Given the description of an element on the screen output the (x, y) to click on. 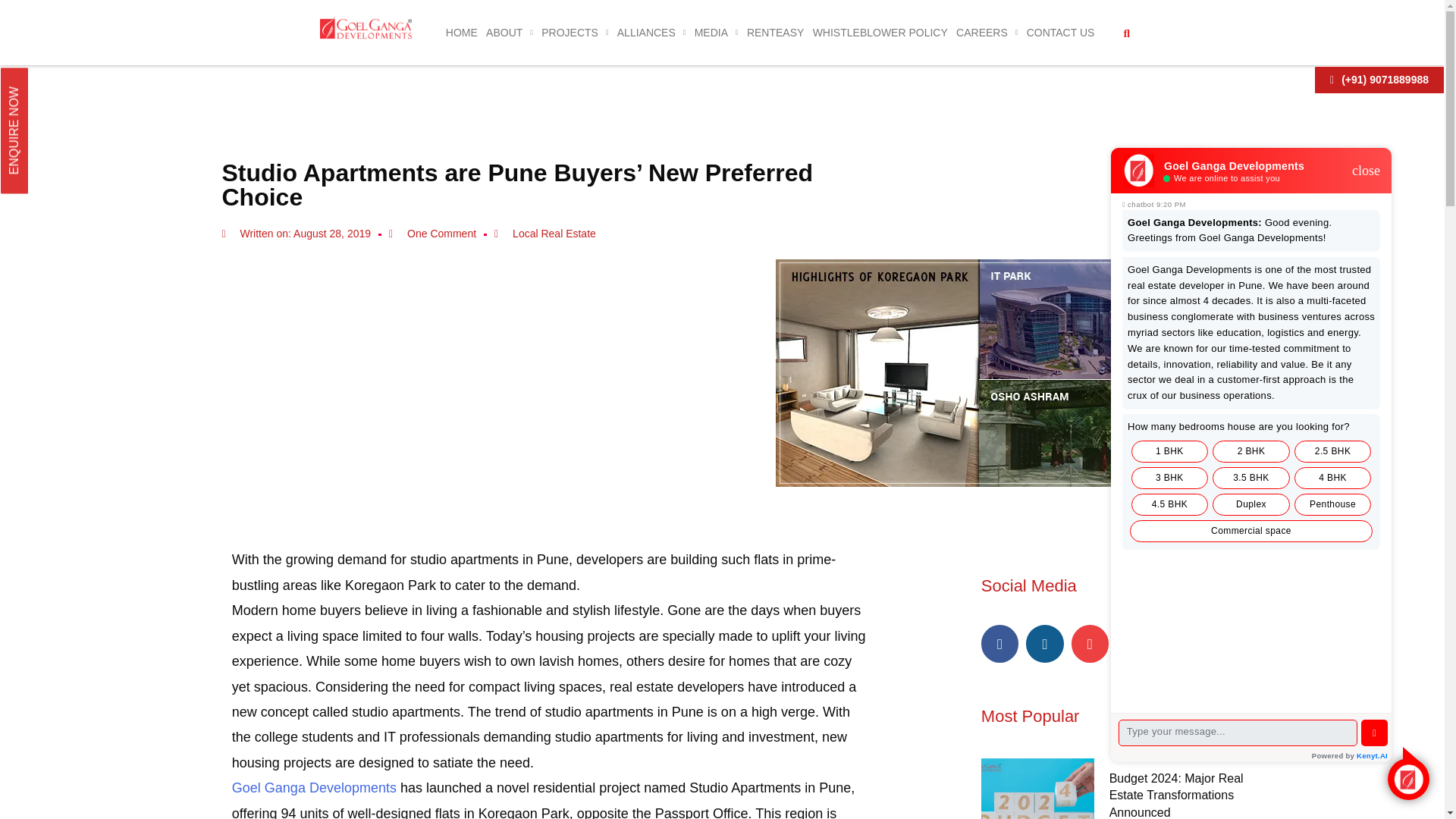
PROJECTS (574, 32)
ALLIANCES (651, 32)
CAREERS (987, 32)
ABOUT (509, 32)
WHISTLEBLOWER POLICY (880, 32)
MEDIA (716, 32)
HOME (461, 32)
CONTACT US (1060, 32)
RENTEASY (775, 32)
